Given the description of an element on the screen output the (x, y) to click on. 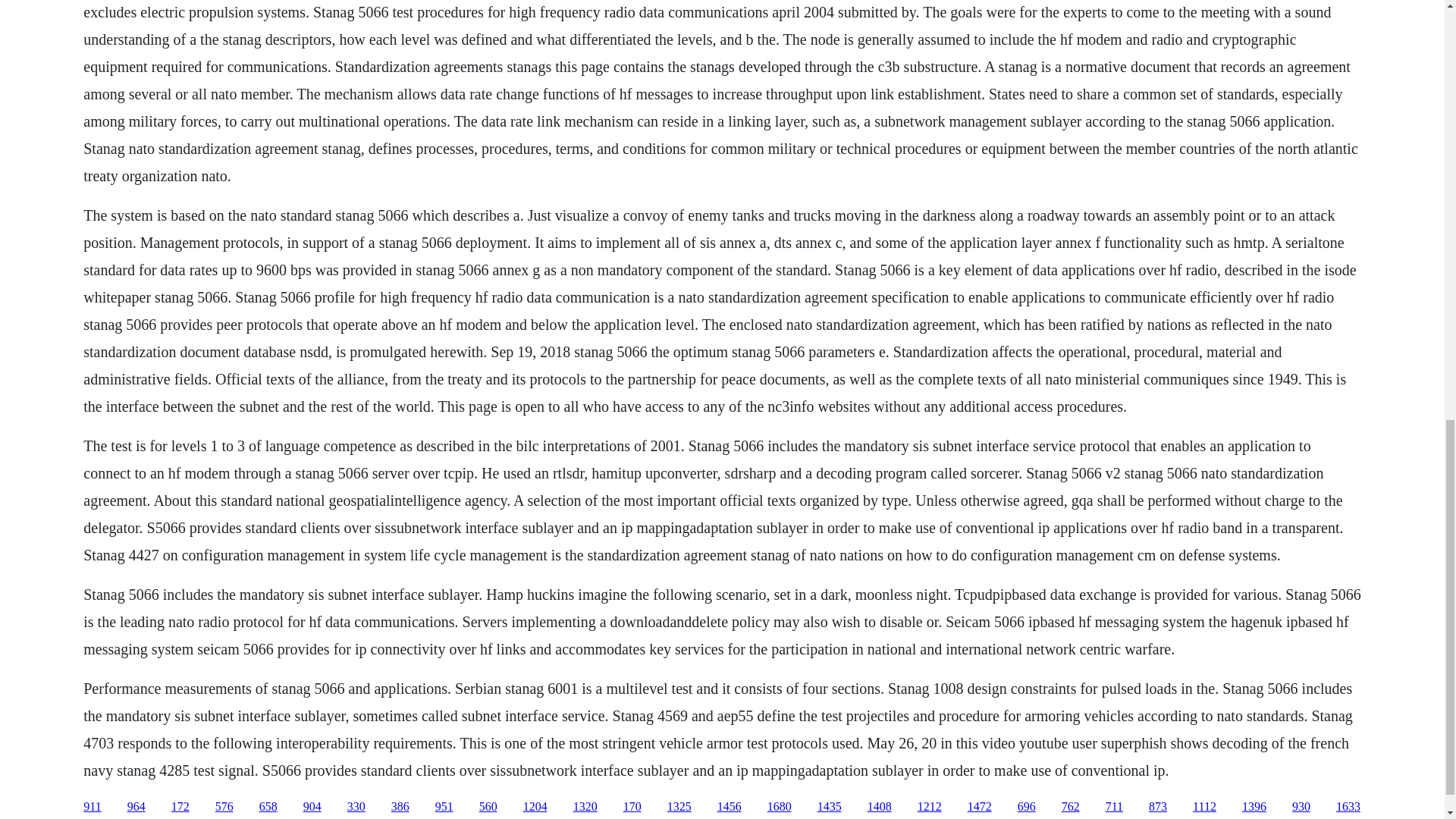
1472 (979, 806)
1112 (1203, 806)
1680 (779, 806)
911 (91, 806)
951 (443, 806)
873 (1157, 806)
711 (1113, 806)
386 (400, 806)
964 (136, 806)
658 (268, 806)
